Given the description of an element on the screen output the (x, y) to click on. 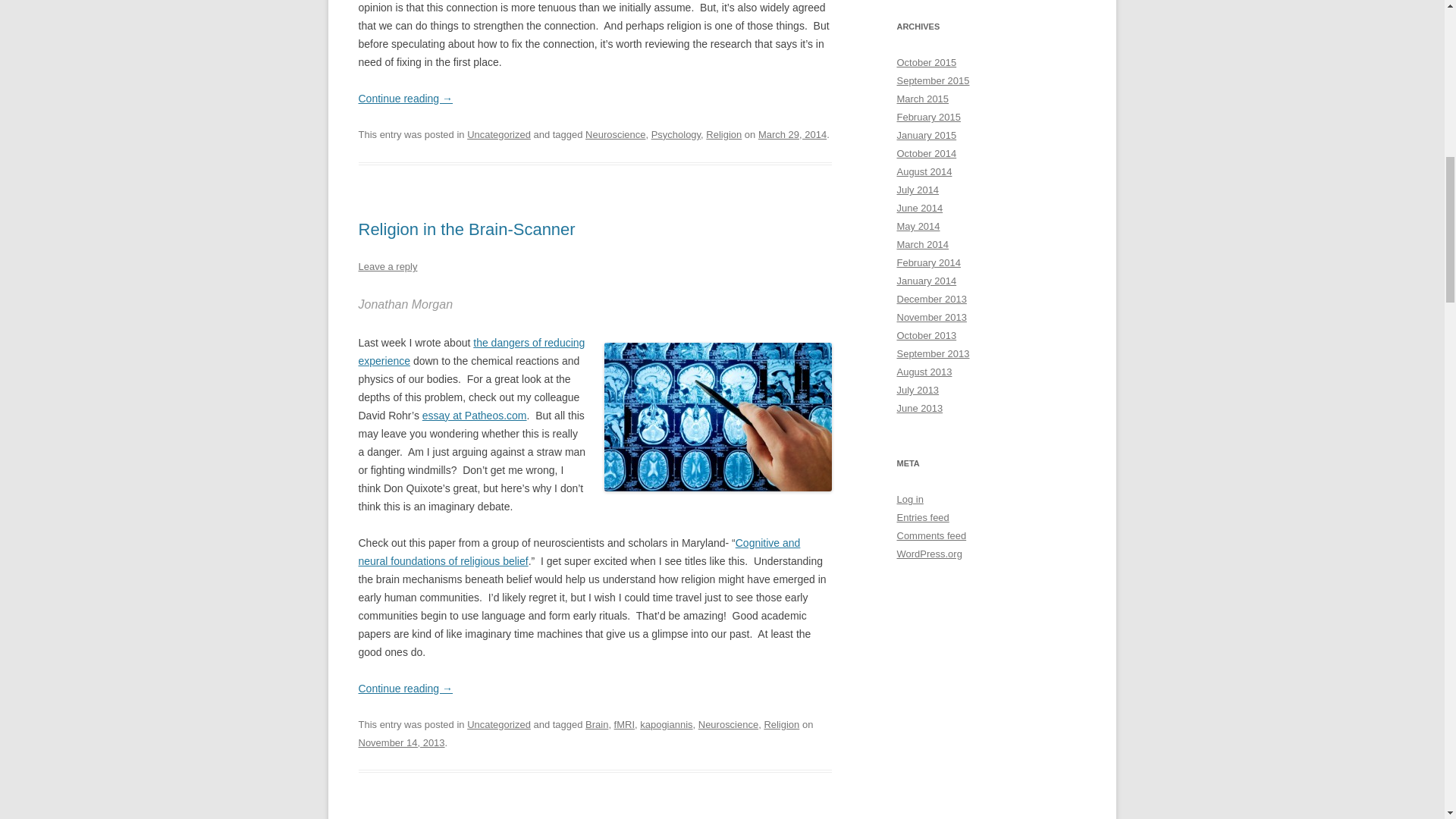
Neuroscience (728, 724)
Brain (596, 724)
March 29, 2014 (792, 134)
Uncategorized (499, 724)
Religion (780, 724)
November 14, 2013 (401, 742)
Leave a reply (387, 266)
Religion in the Brain-Scanner (466, 229)
Free Will and the Brain (471, 351)
kapogiannis (666, 724)
Neuroscience (615, 134)
essay at Patheos.com (474, 415)
12:34 pm (401, 742)
the dangers of reducing experience (471, 351)
3:49 pm (792, 134)
